Given the description of an element on the screen output the (x, y) to click on. 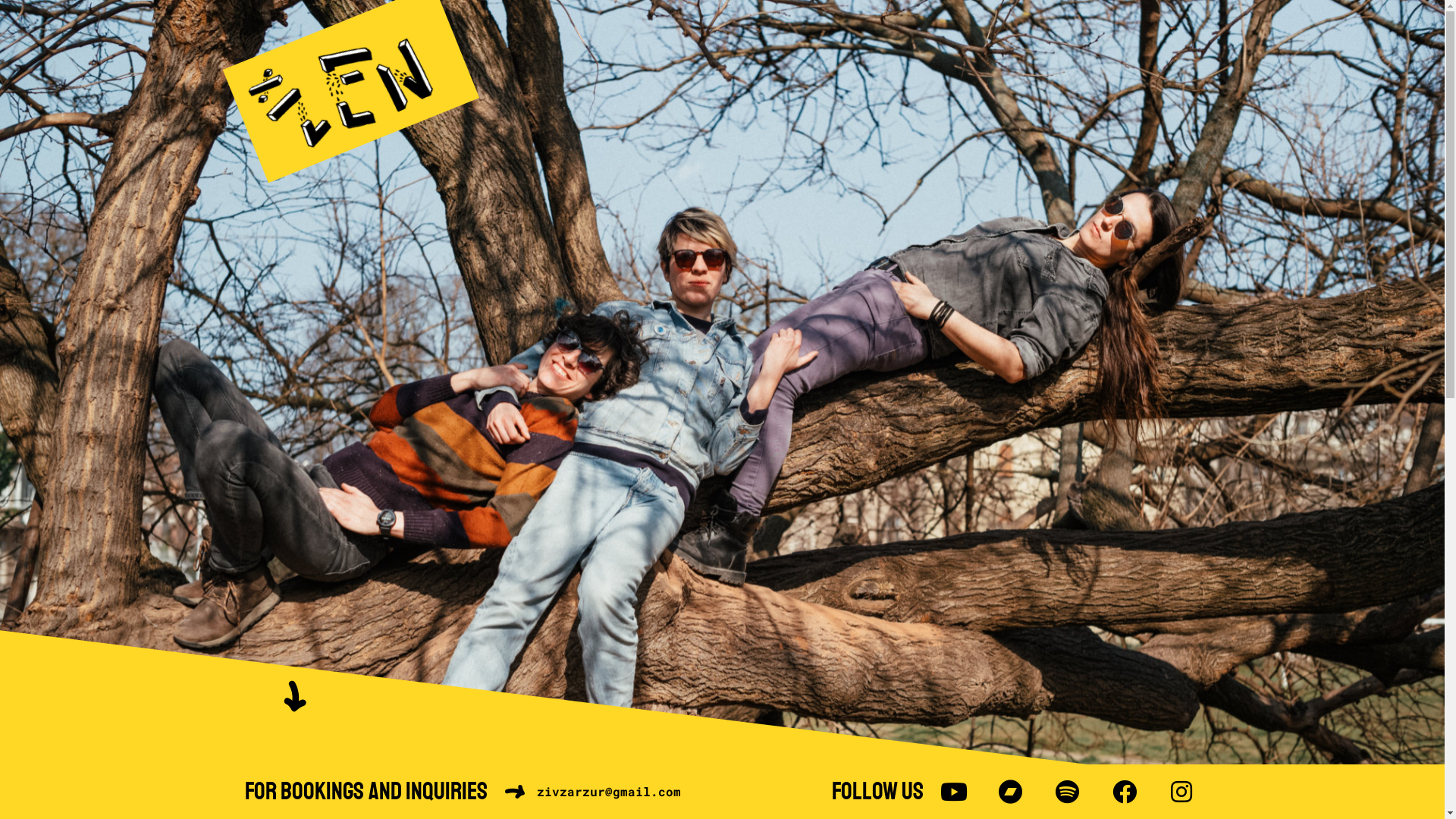
zivzarzur@gmail.com Element type: text (591, 791)
